Given the description of an element on the screen output the (x, y) to click on. 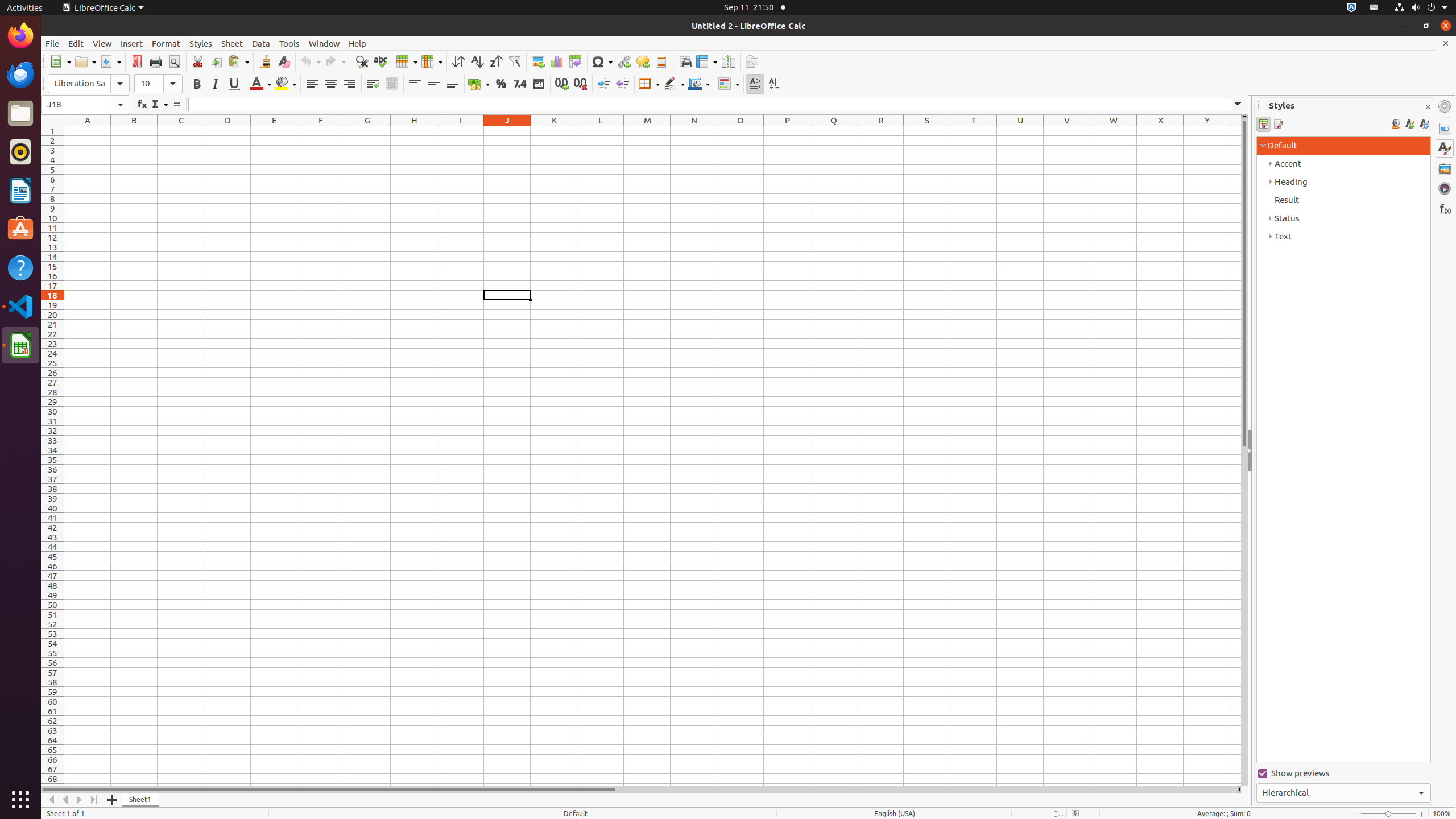
Z1 Element type: table-cell (1235, 130)
Move Left Element type: push-button (65, 799)
Properties Element type: radio-button (1444, 128)
Add Decimal Place Element type: push-button (561, 83)
